Given the description of an element on the screen output the (x, y) to click on. 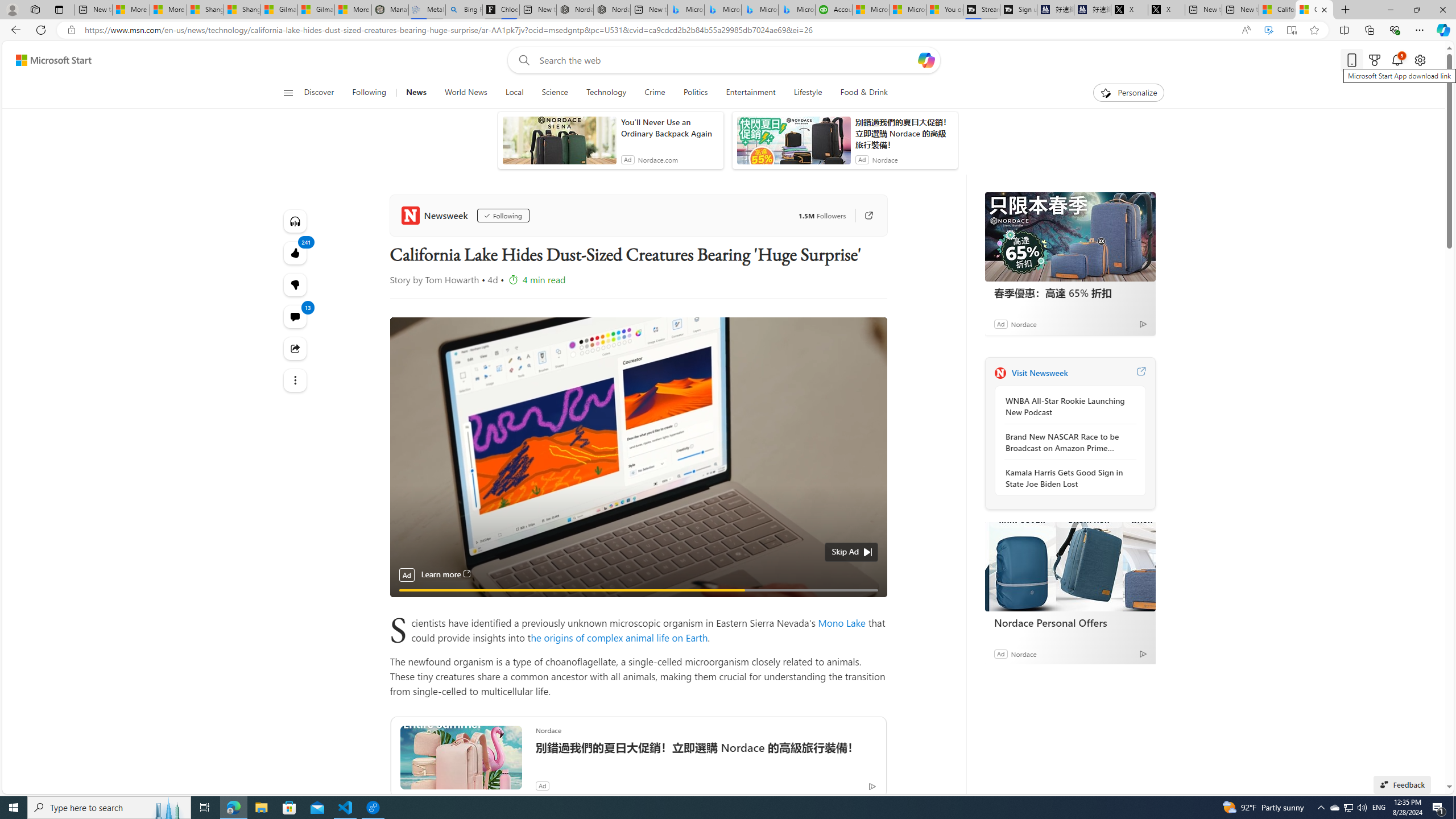
Class: button-glyph (287, 92)
Brand New NASCAR Race to be Broadcast on Amazon Prime Video (1066, 441)
Science (554, 92)
Chloe Sorvino (500, 9)
Nordace Personal Offers (1070, 566)
Enhance video (1268, 29)
he origins of complex animal life on Earth (618, 636)
Entertainment (750, 92)
